Given the description of an element on the screen output the (x, y) to click on. 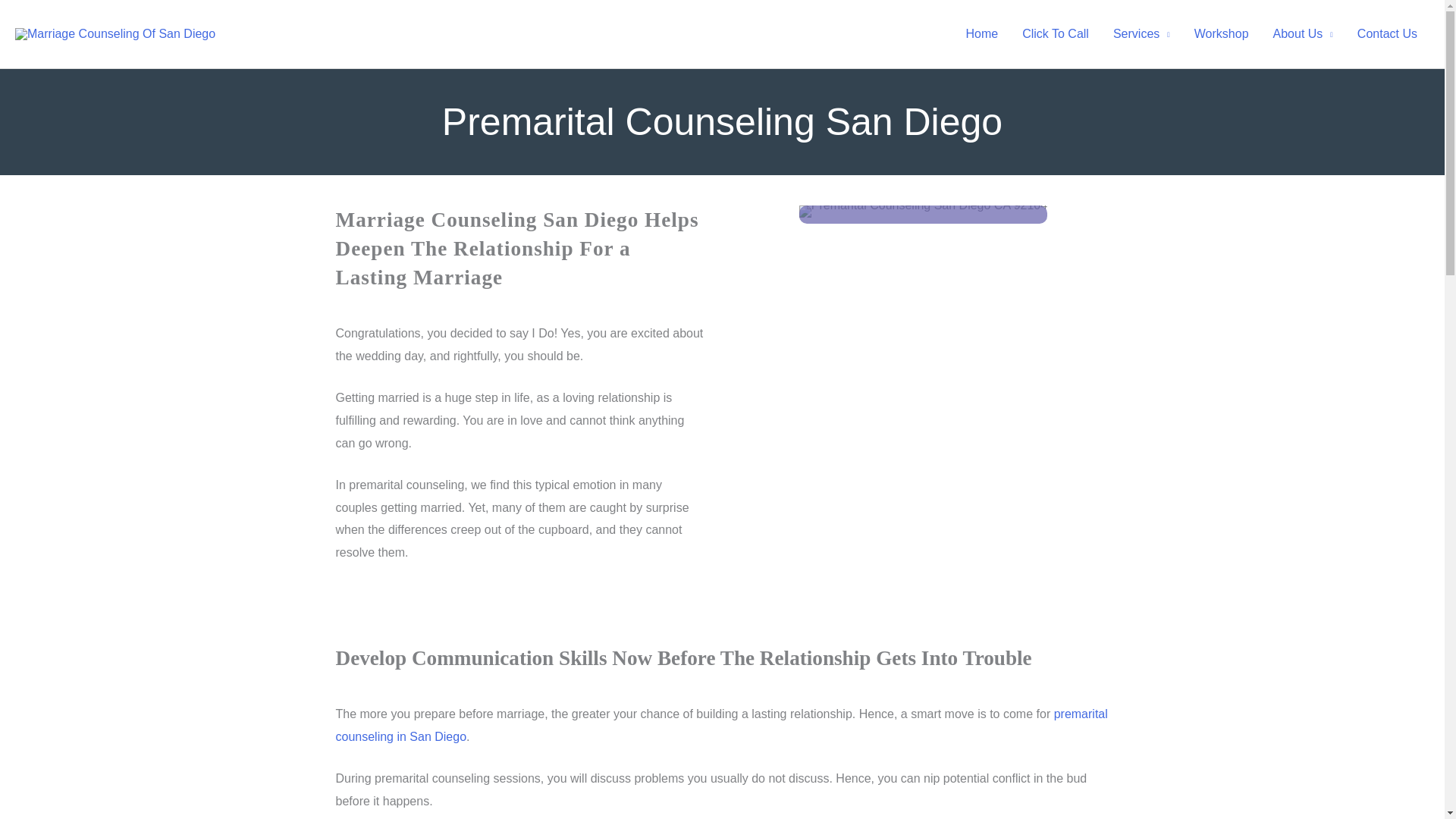
About Us (1302, 33)
Click To Call (1055, 33)
Services (1141, 33)
Contact Us (1387, 33)
Home (981, 33)
premarital counseling in San Diego (720, 724)
Premarital Counseling San Diego CA 92104 (922, 211)
Workshop (1221, 33)
